Given the description of an element on the screen output the (x, y) to click on. 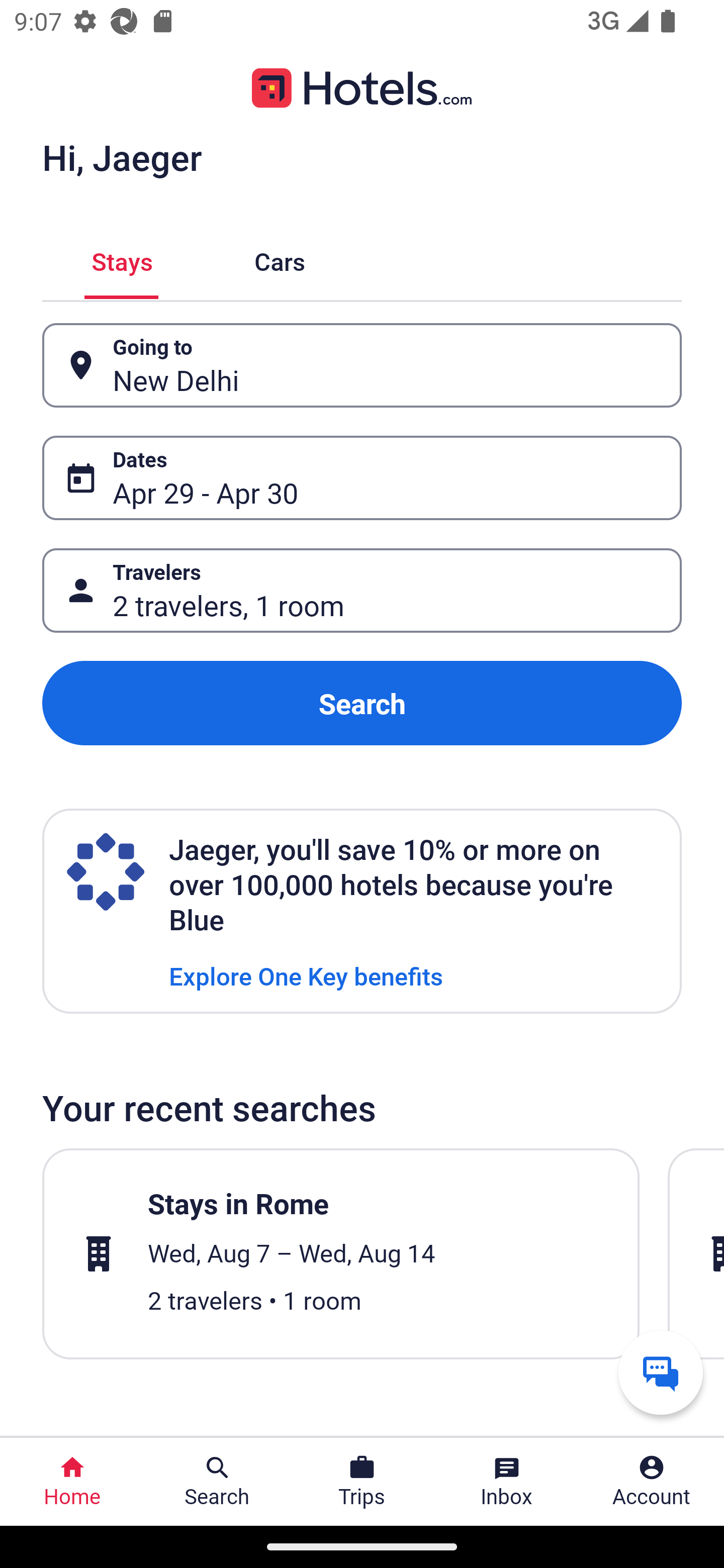
Hi, Jaeger (121, 156)
Cars (279, 259)
Going to Button New Delhi (361, 365)
Dates Button Apr 29 - Apr 30 (361, 477)
Travelers Button 2 travelers, 1 room (361, 590)
Search (361, 702)
Get help from a virtual agent (660, 1371)
Search Search Button (216, 1481)
Trips Trips Button (361, 1481)
Inbox Inbox Button (506, 1481)
Account Profile. Button (651, 1481)
